Given the description of an element on the screen output the (x, y) to click on. 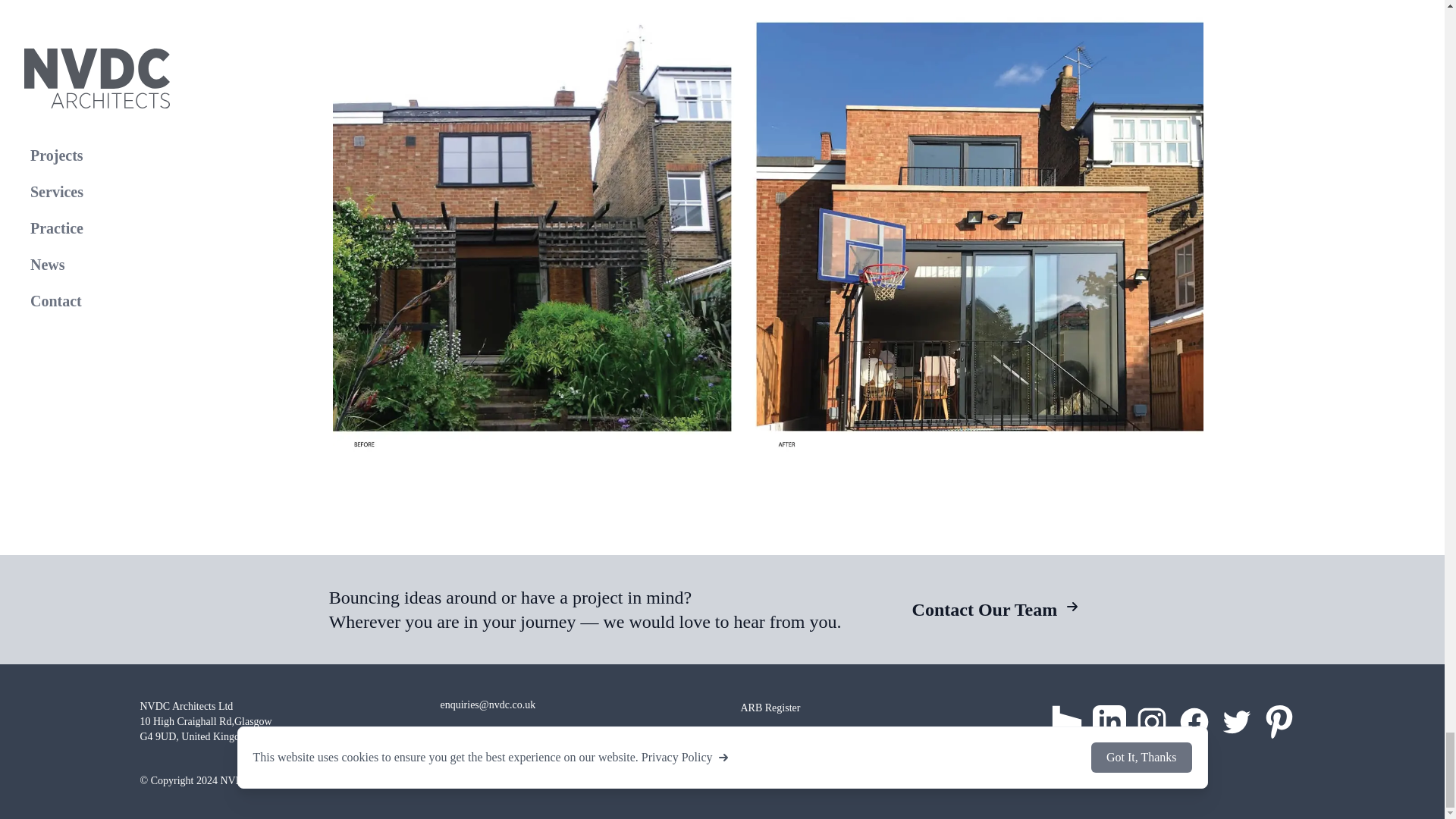
Twitter (1236, 721)
Facebook (1192, 721)
Pinterest (1278, 721)
Instagram (1150, 721)
LinkedIn (1108, 721)
Houzz (1066, 721)
